Given the description of an element on the screen output the (x, y) to click on. 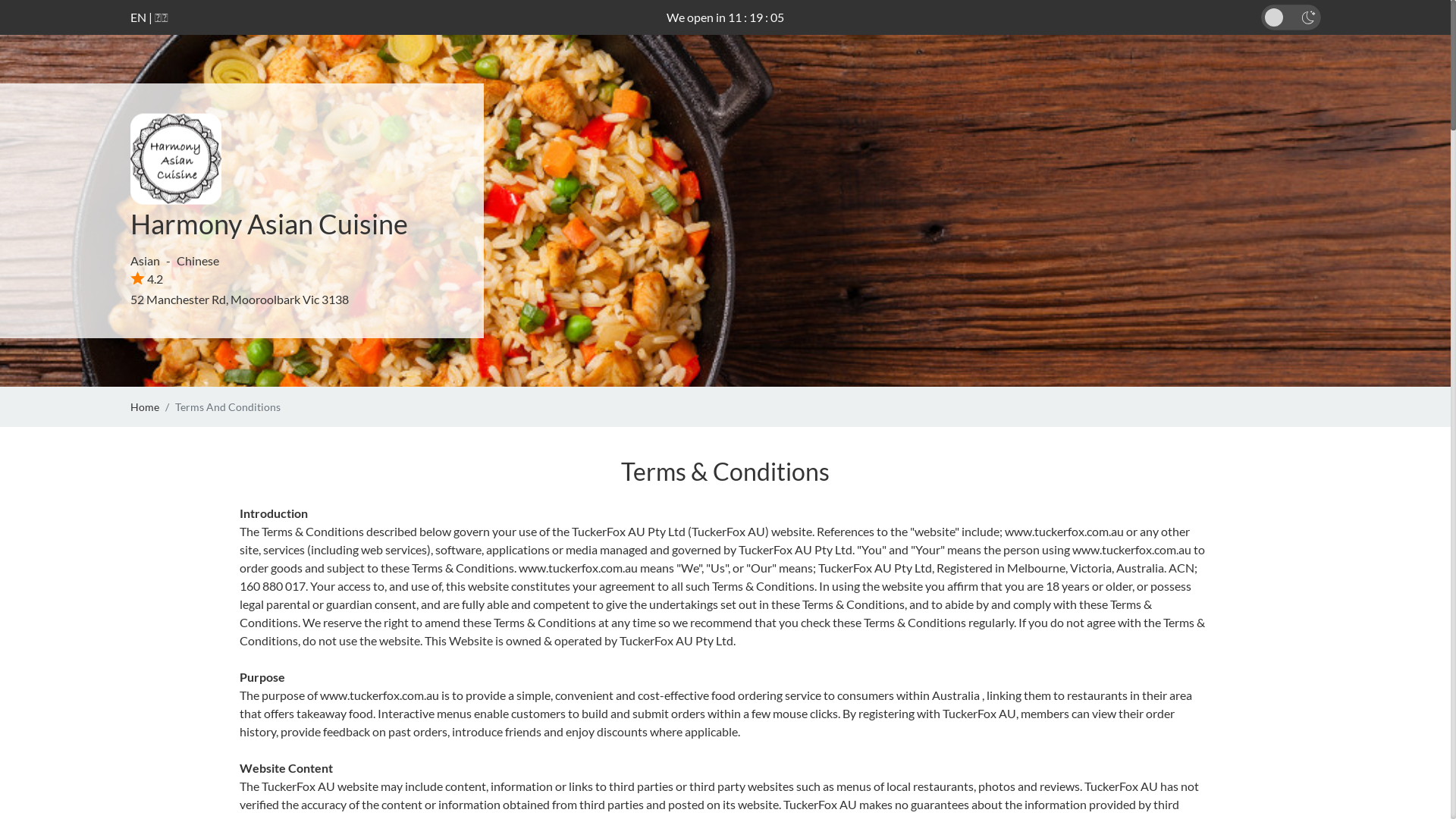
EN Element type: text (138, 16)
Home Element type: text (144, 406)
4.2 Element type: text (146, 278)
Harmony Asian Cuisine Element type: text (268, 223)
